Given the description of an element on the screen output the (x, y) to click on. 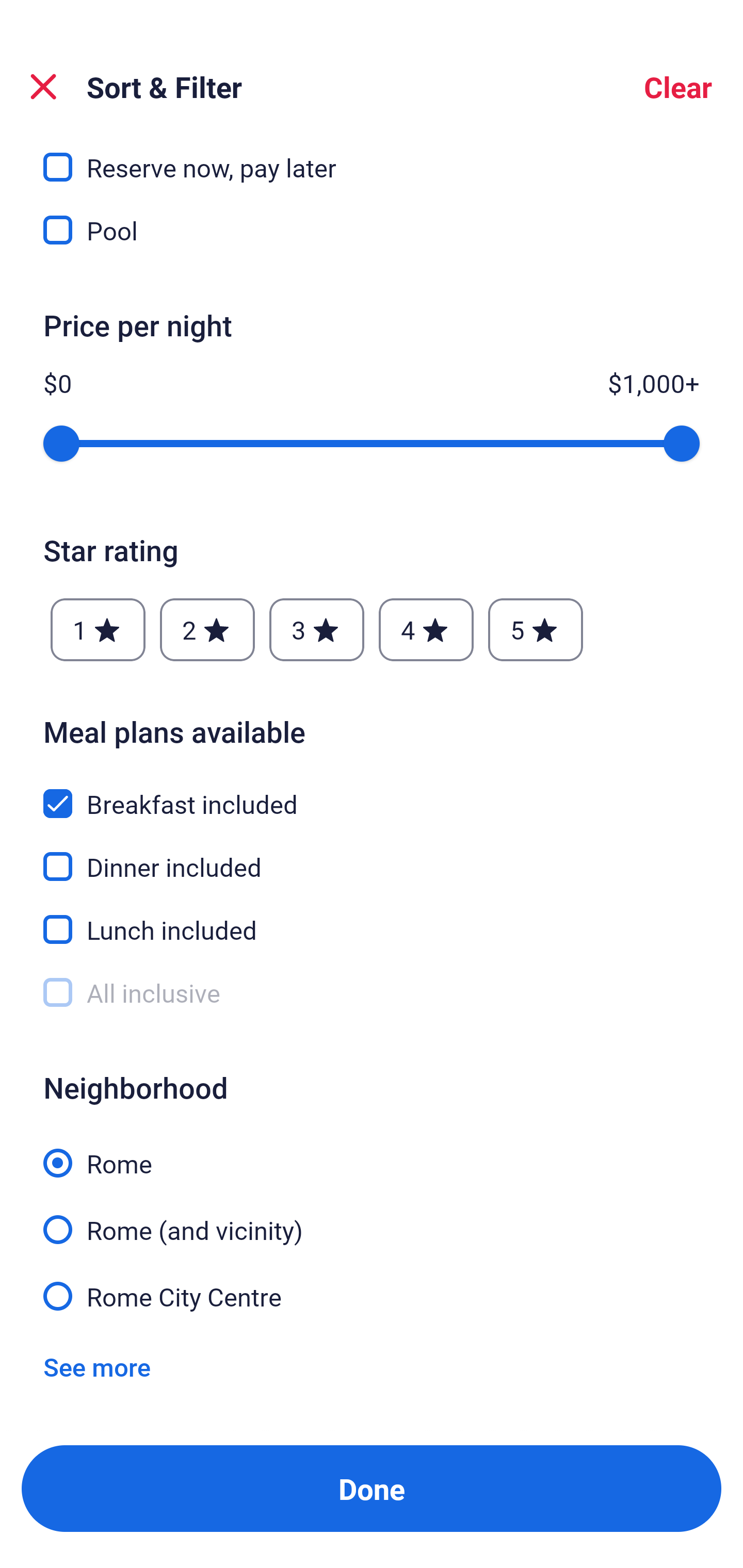
Close Sort and Filter (43, 86)
Clear (677, 86)
Reserve now, pay later, Reserve now, pay later (371, 158)
Pool, Pool (371, 230)
1 (97, 629)
2 (206, 629)
3 (316, 629)
4 (426, 629)
5 (535, 629)
Breakfast included, Breakfast included (371, 791)
Dinner included, Dinner included (371, 854)
Lunch included, Lunch included (371, 917)
All inclusive, All inclusive (371, 993)
Rome (and vicinity) (371, 1218)
Rome City Centre (371, 1295)
See more See more neighborhoods Link (96, 1366)
Apply and close Sort and Filter Done (371, 1488)
